Given the description of an element on the screen output the (x, y) to click on. 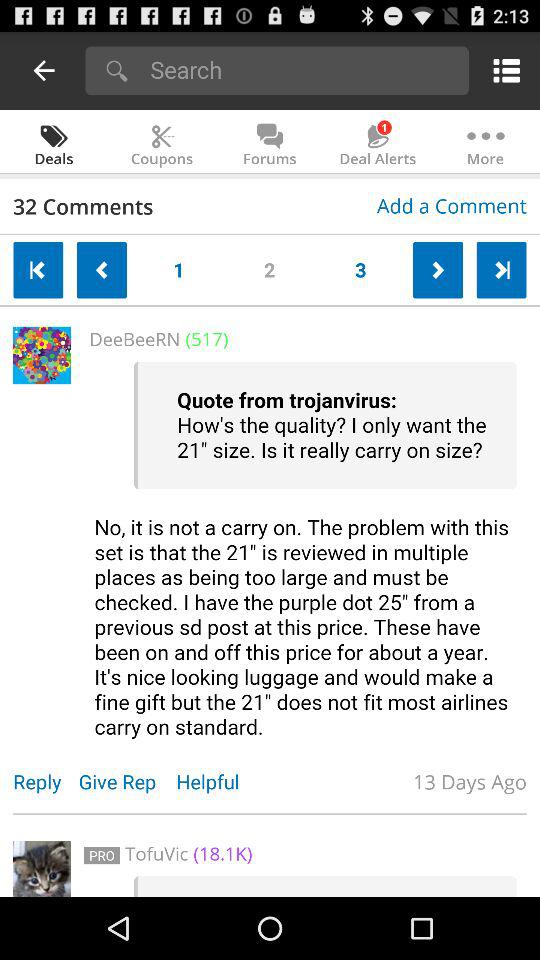
choose icon next to 13 days ago (218, 781)
